Given the description of an element on the screen output the (x, y) to click on. 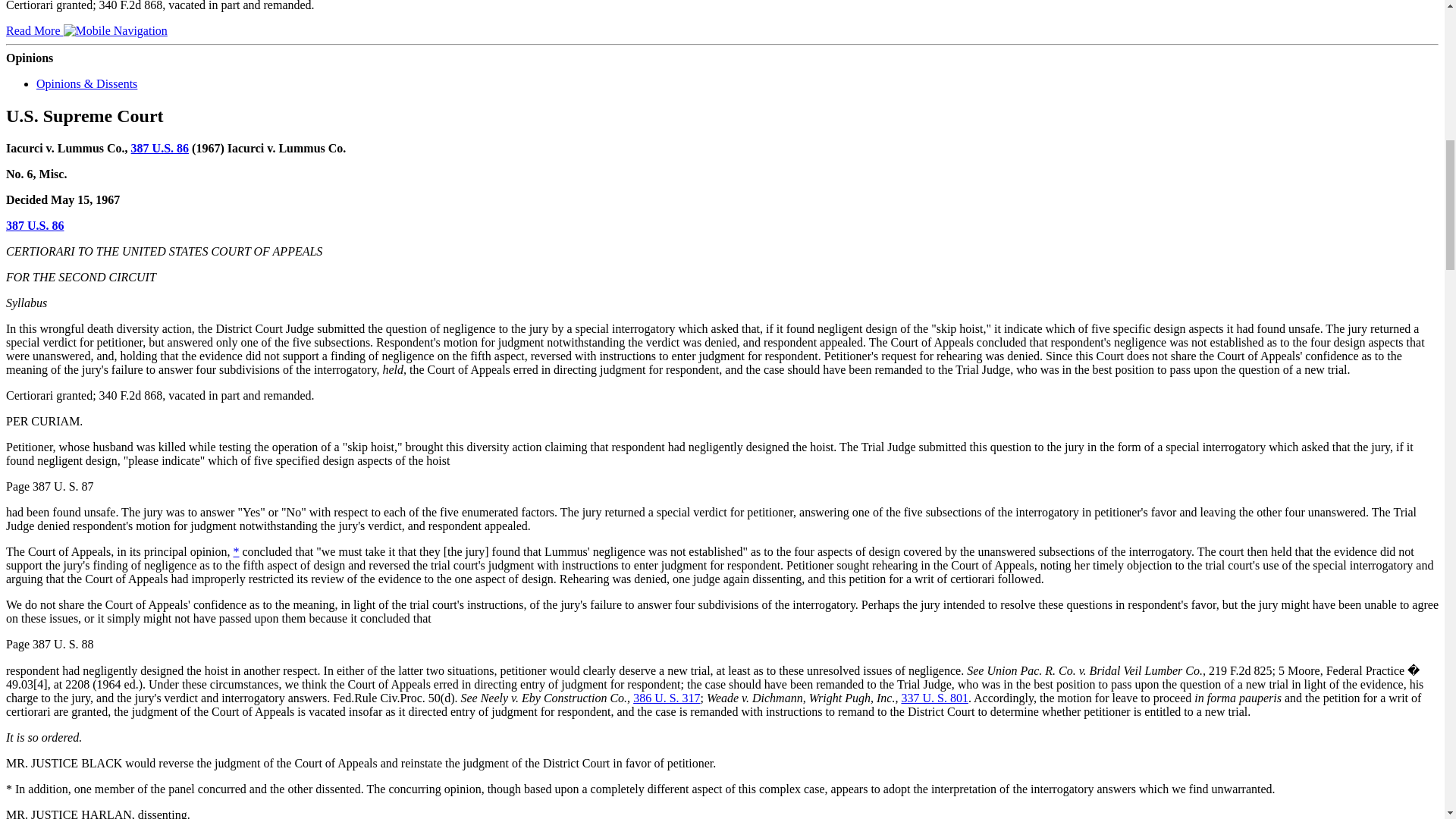
387 U.S. 86 (34, 224)
Mobile Navigation (115, 30)
387 U.S. 86 (160, 146)
Read More (86, 30)
